Given the description of an element on the screen output the (x, y) to click on. 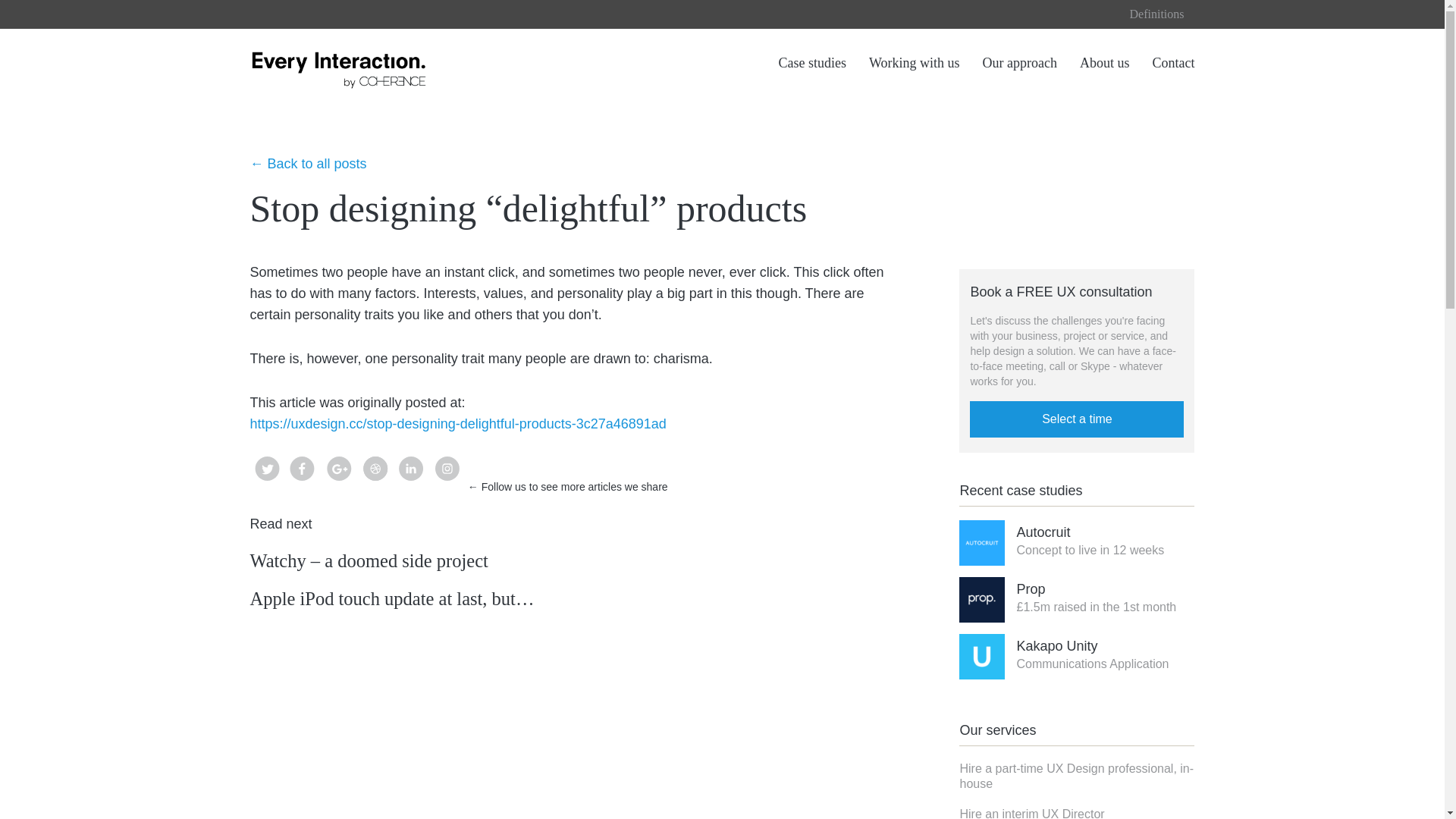
Our approach (1019, 62)
Select a time (1076, 419)
Definitions (1157, 14)
LinkedIn (1089, 544)
facebook (411, 486)
twitter (301, 486)
dribbble (266, 486)
Contact (374, 486)
Hire a part-time UX Design professional, in-house (1092, 658)
Case studies (1174, 62)
About us (1076, 776)
Working with us (811, 62)
Hire an interim UX Director (1104, 62)
